Given the description of an element on the screen output the (x, y) to click on. 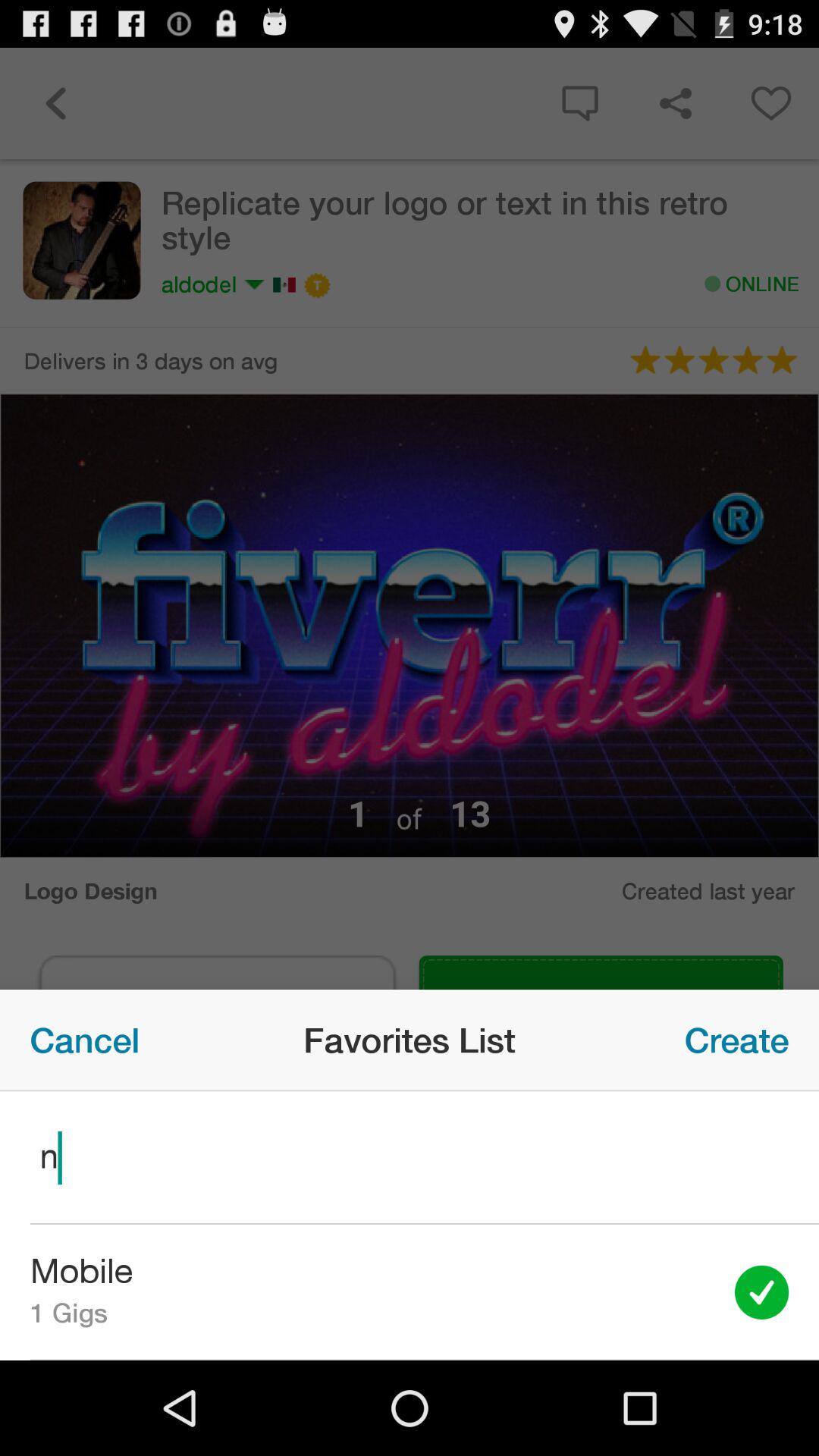
press the item at the center (409, 703)
